Given the description of an element on the screen output the (x, y) to click on. 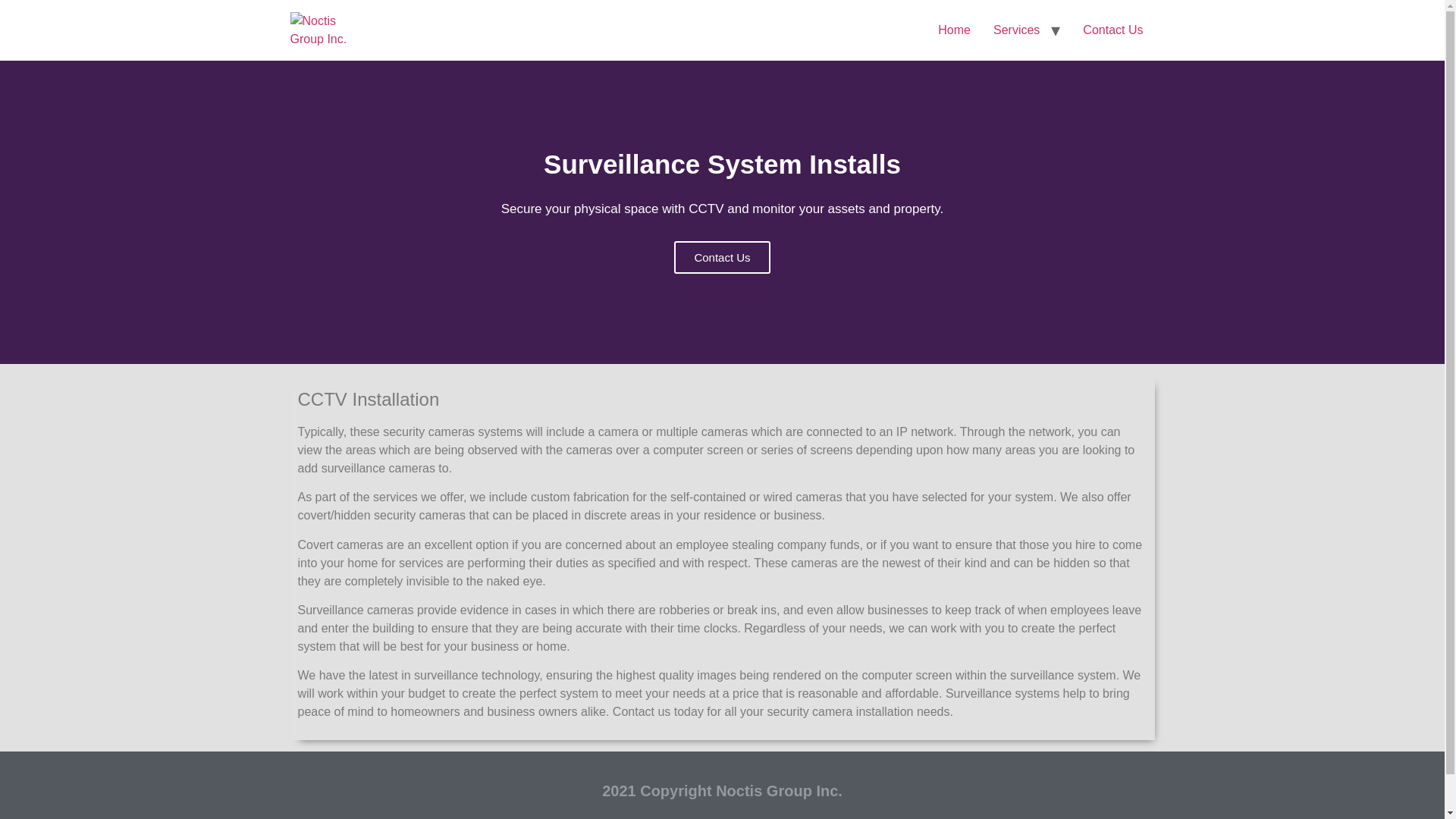
Contact Us (1112, 30)
Services (1016, 30)
Contact Us (722, 256)
Home (953, 30)
